Given the description of an element on the screen output the (x, y) to click on. 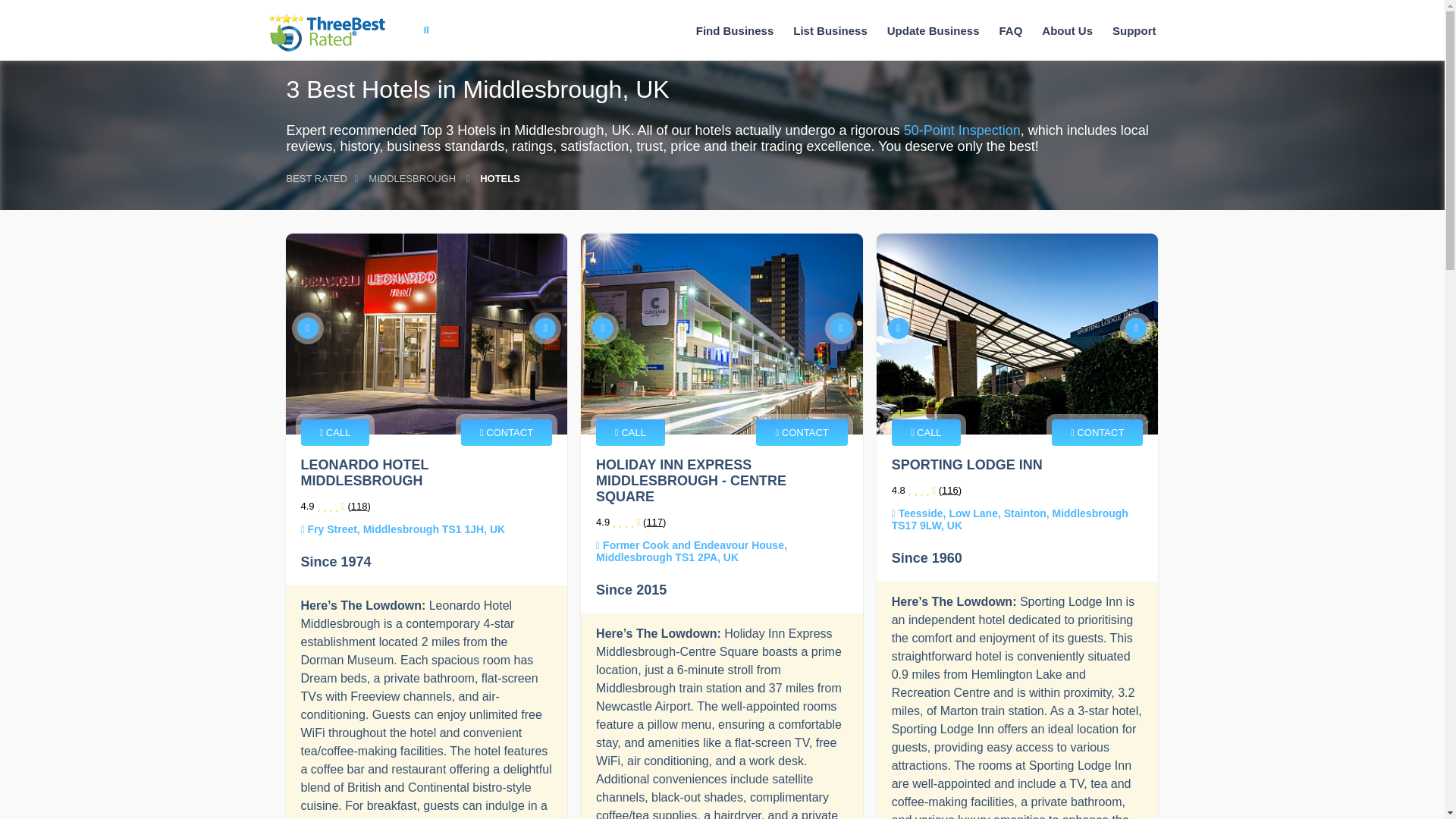
CALL (334, 432)
ThreeBestRated.co.uk (325, 32)
117 (654, 521)
Update your business for Free! (933, 30)
List Business (830, 30)
50-Point Inspection (962, 130)
MIDDLESBROUGH (412, 178)
CONTACT (506, 432)
About Us (1066, 30)
CALL (630, 432)
List your business for Free! (830, 30)
118 (359, 505)
Holiday Inn Express Middlesbrough - Centre Square (721, 333)
How does Three Best Rated AU work? (1066, 30)
Former Cook and Endeavour House, Middlesbrough TS1 2PA, UK (691, 550)
